Given the description of an element on the screen output the (x, y) to click on. 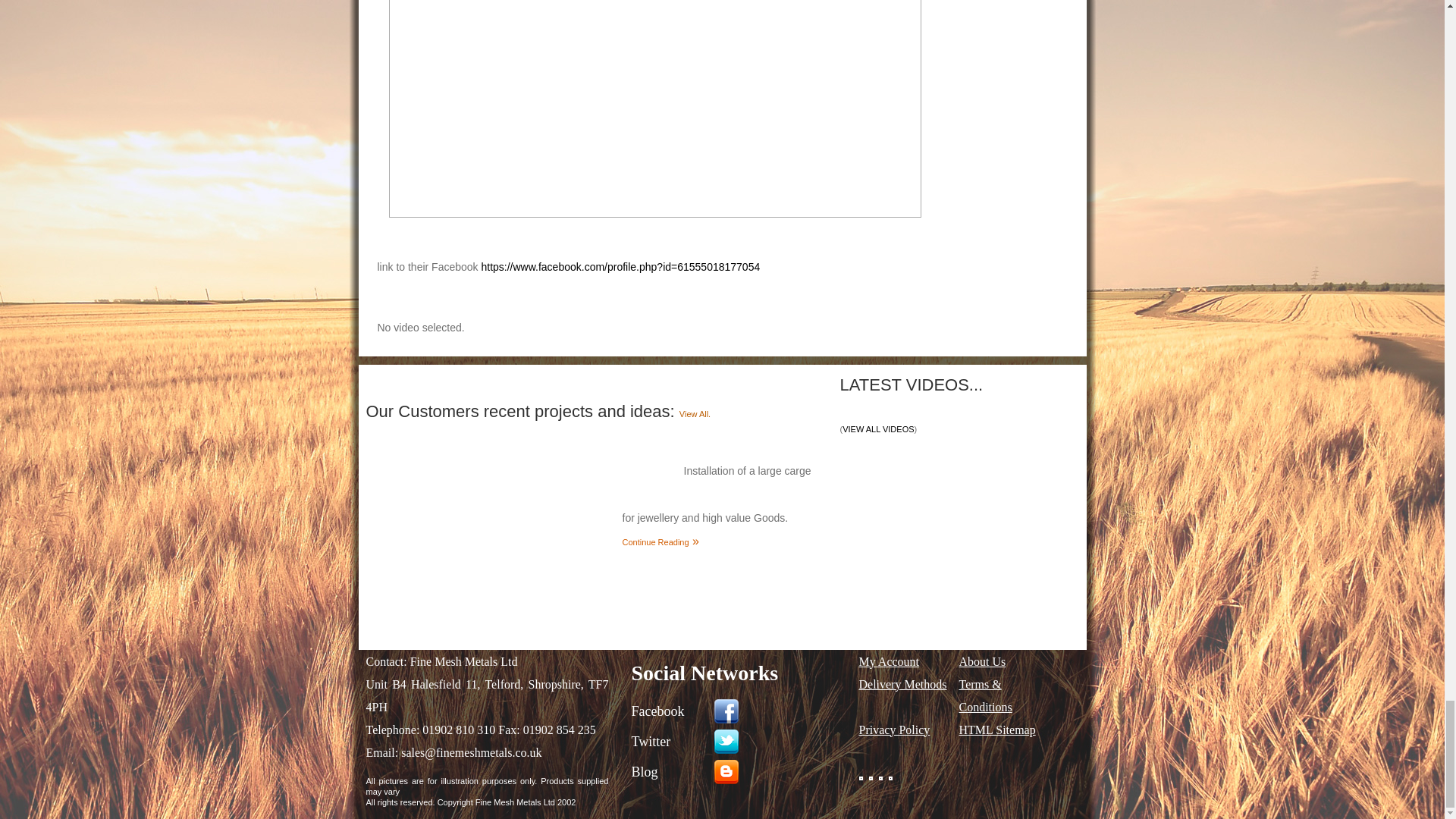
Twitter (736, 741)
Facebook (736, 711)
Jewellery centre cage (489, 511)
Blog (736, 771)
Jewellery centre cage (489, 509)
